Given the description of an element on the screen output the (x, y) to click on. 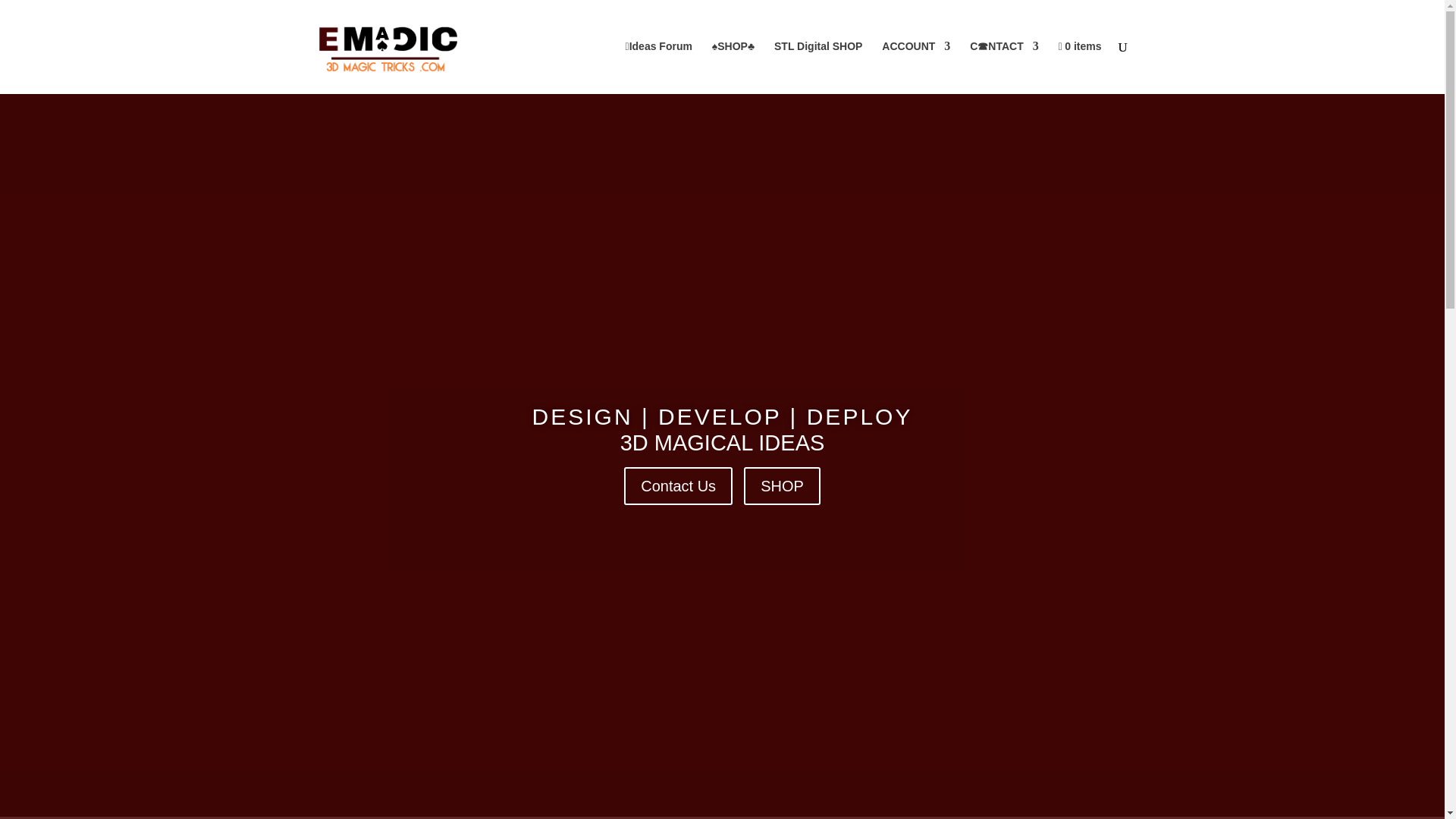
STL Digital SHOP (817, 66)
SHOP (782, 485)
ACCOUNT (916, 66)
Contact Us (678, 485)
